Given the description of an element on the screen output the (x, y) to click on. 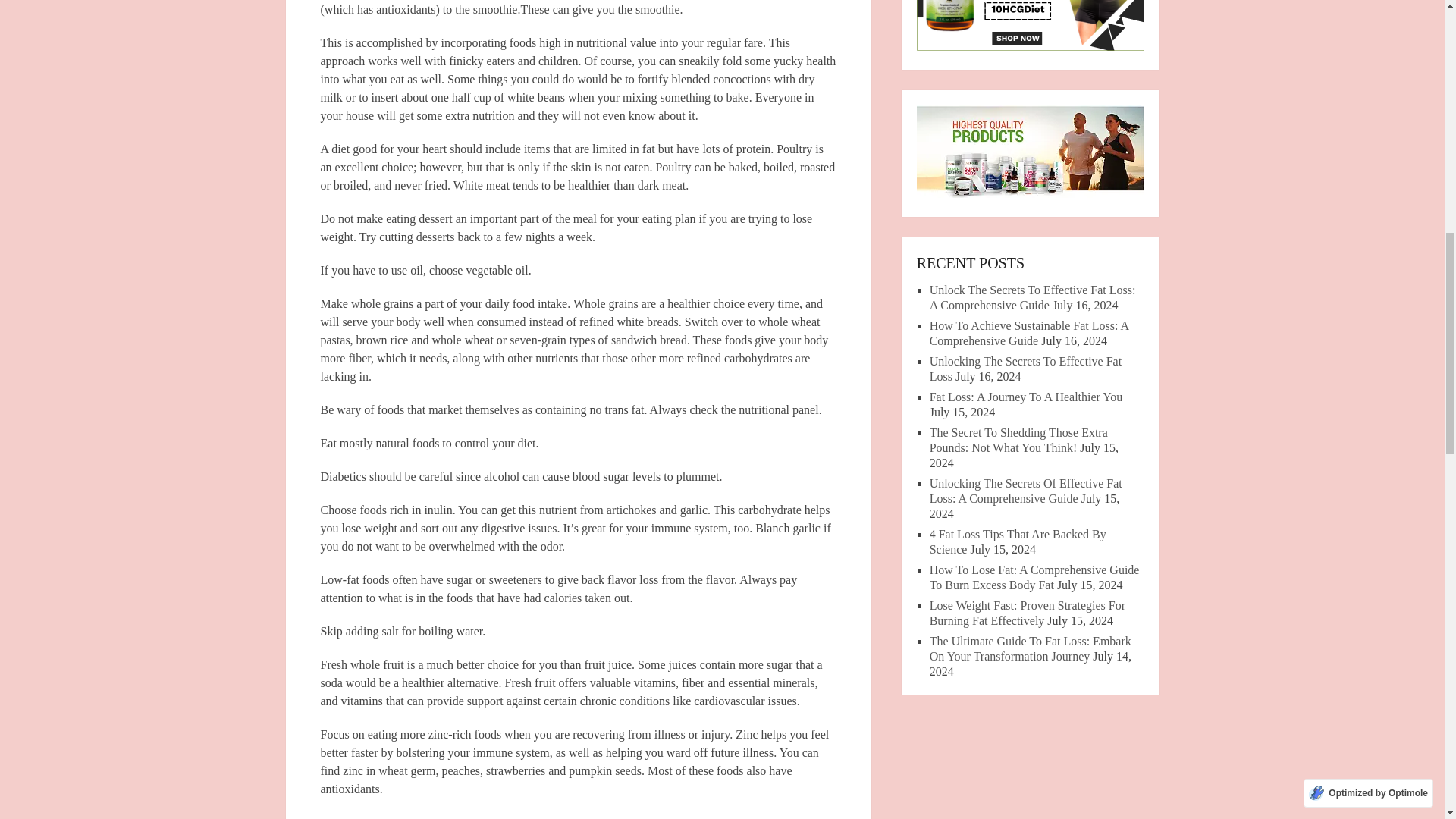
Fat Loss: A Journey To A Healthier You (1026, 396)
How To Achieve Sustainable Fat Loss: A Comprehensive Guide (1029, 333)
Unlocking The Secrets To Effective Fat Loss (1025, 368)
4 Fat Loss Tips That Are Backed By Science (1018, 541)
